Given the description of an element on the screen output the (x, y) to click on. 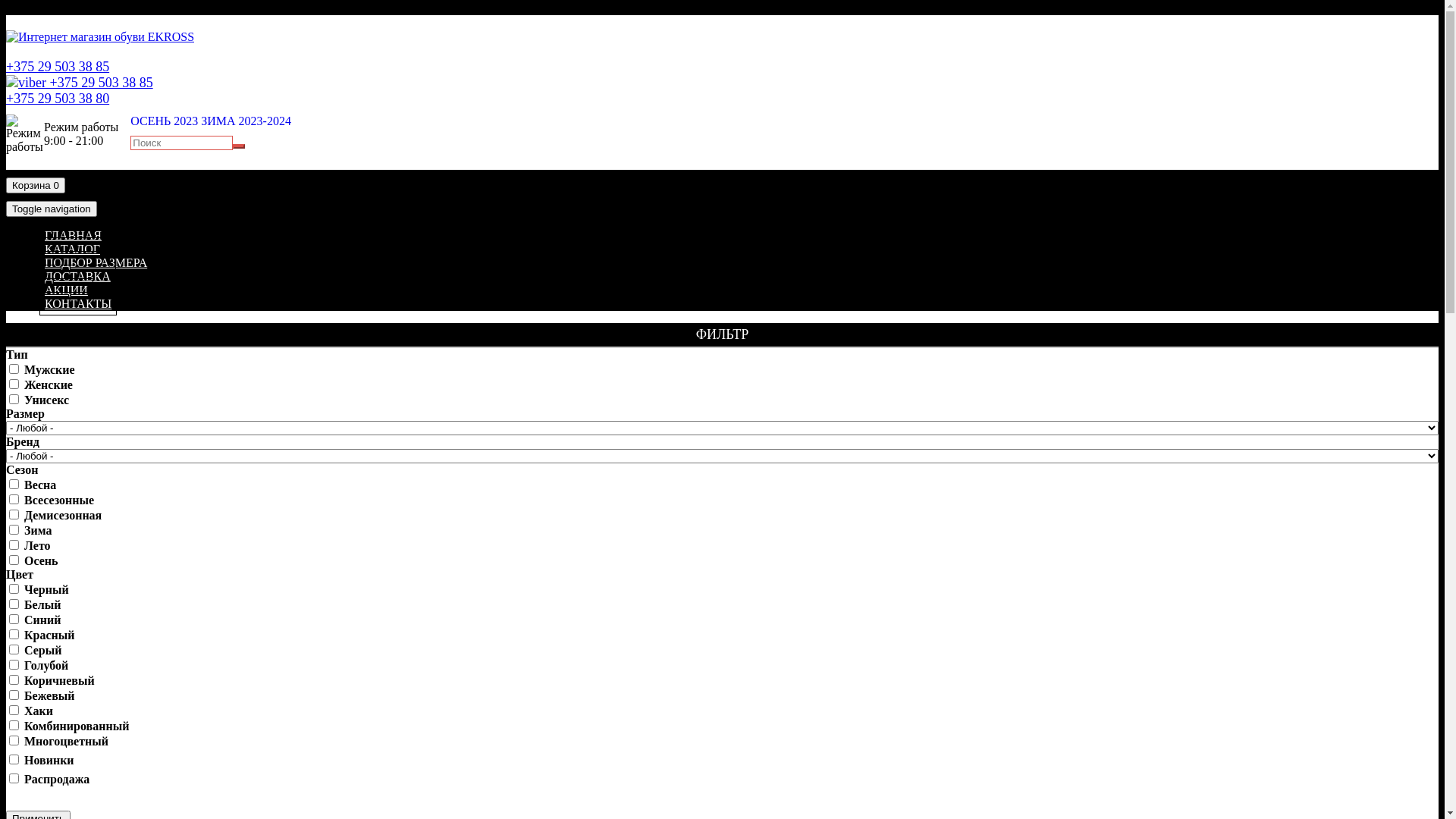
Toggle navigation Element type: text (51, 208)
+375 29 503 38 85 Element type: text (79, 82)
+375 29 503 38 85 Element type: text (57, 66)
+375 29 503 38 80 Element type: text (57, 98)
